Given the description of an element on the screen output the (x, y) to click on. 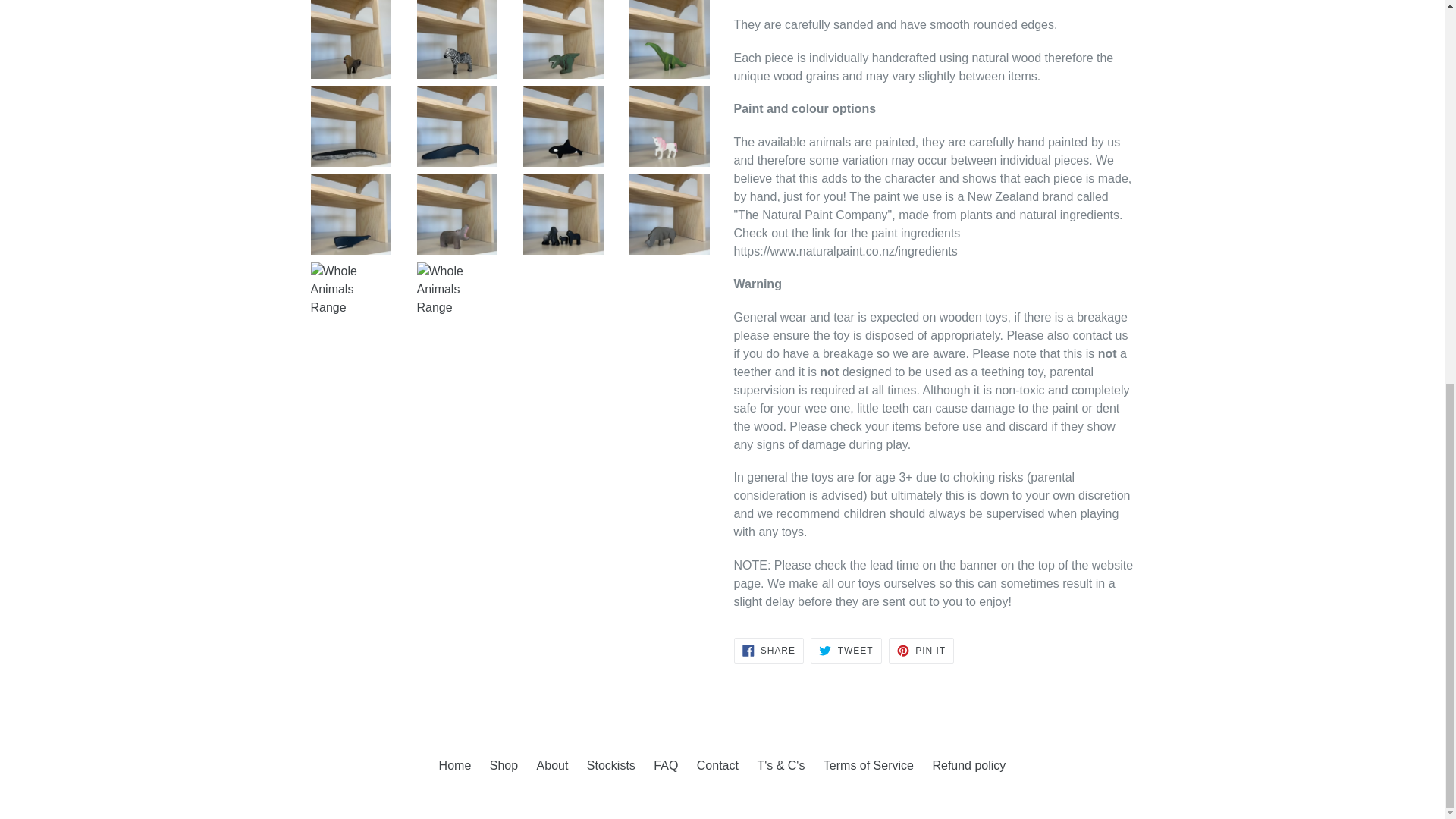
Share on Facebook (768, 649)
Tweet on Twitter (845, 649)
Pin on Pinterest (920, 649)
